Given the description of an element on the screen output the (x, y) to click on. 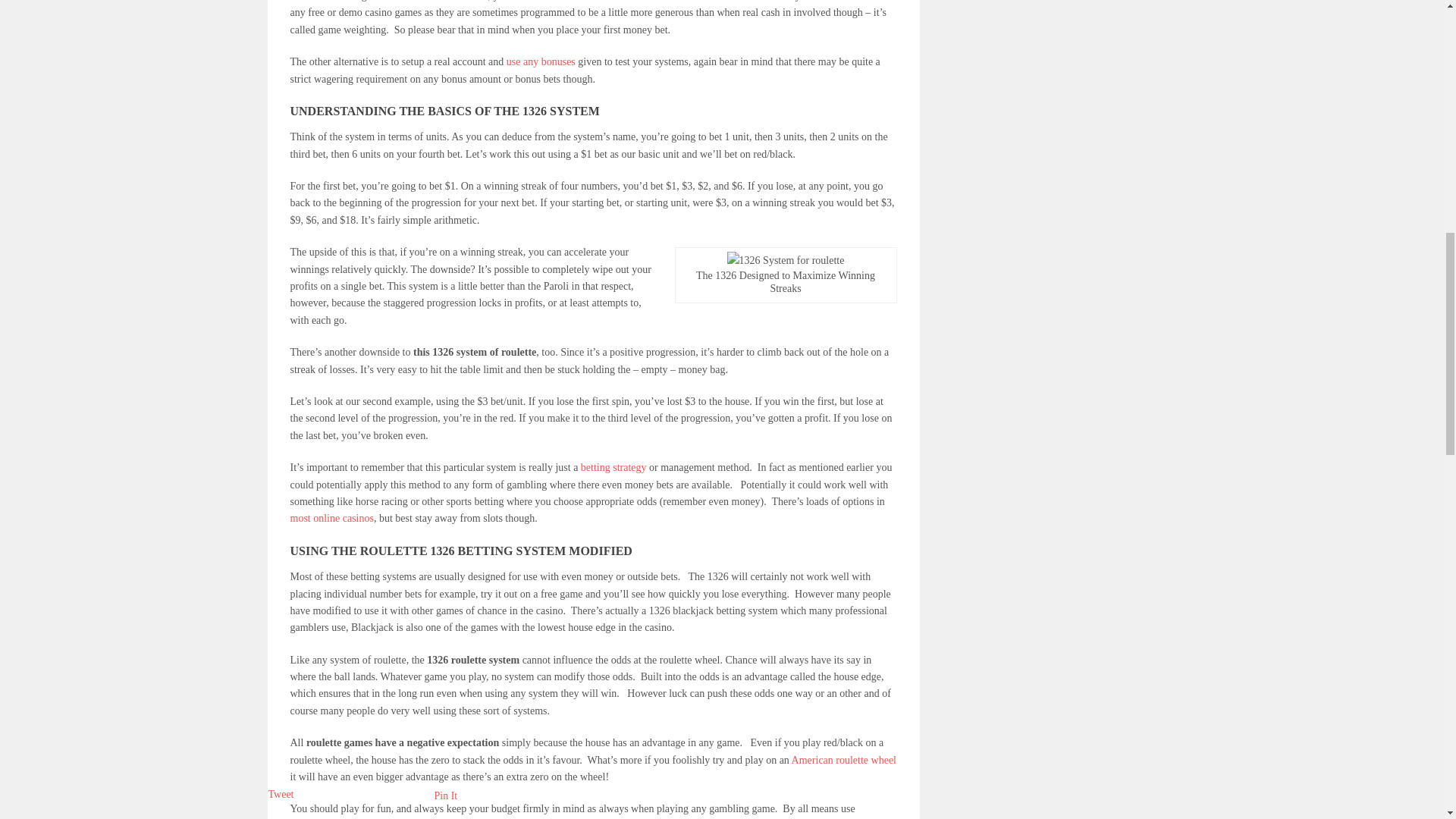
use any bonuses (540, 61)
American roulette wheel (844, 759)
1326-roulette (785, 260)
Bovada (305, 0)
most online casinos (330, 518)
betting strategy (613, 467)
